Given the description of an element on the screen output the (x, y) to click on. 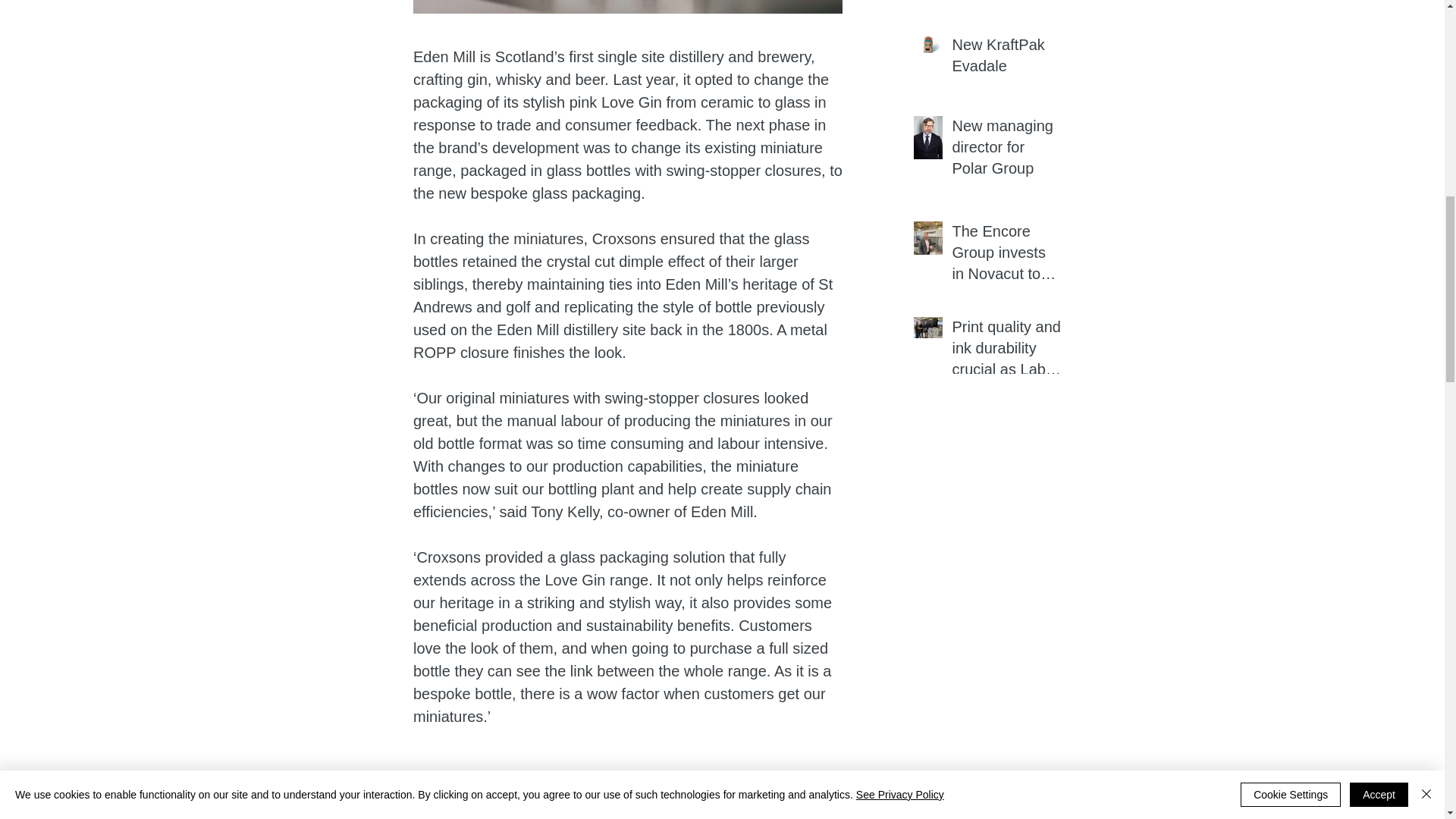
New KraftPak Evadale (1006, 58)
New managing director for Polar Group (1006, 150)
